Given the description of an element on the screen output the (x, y) to click on. 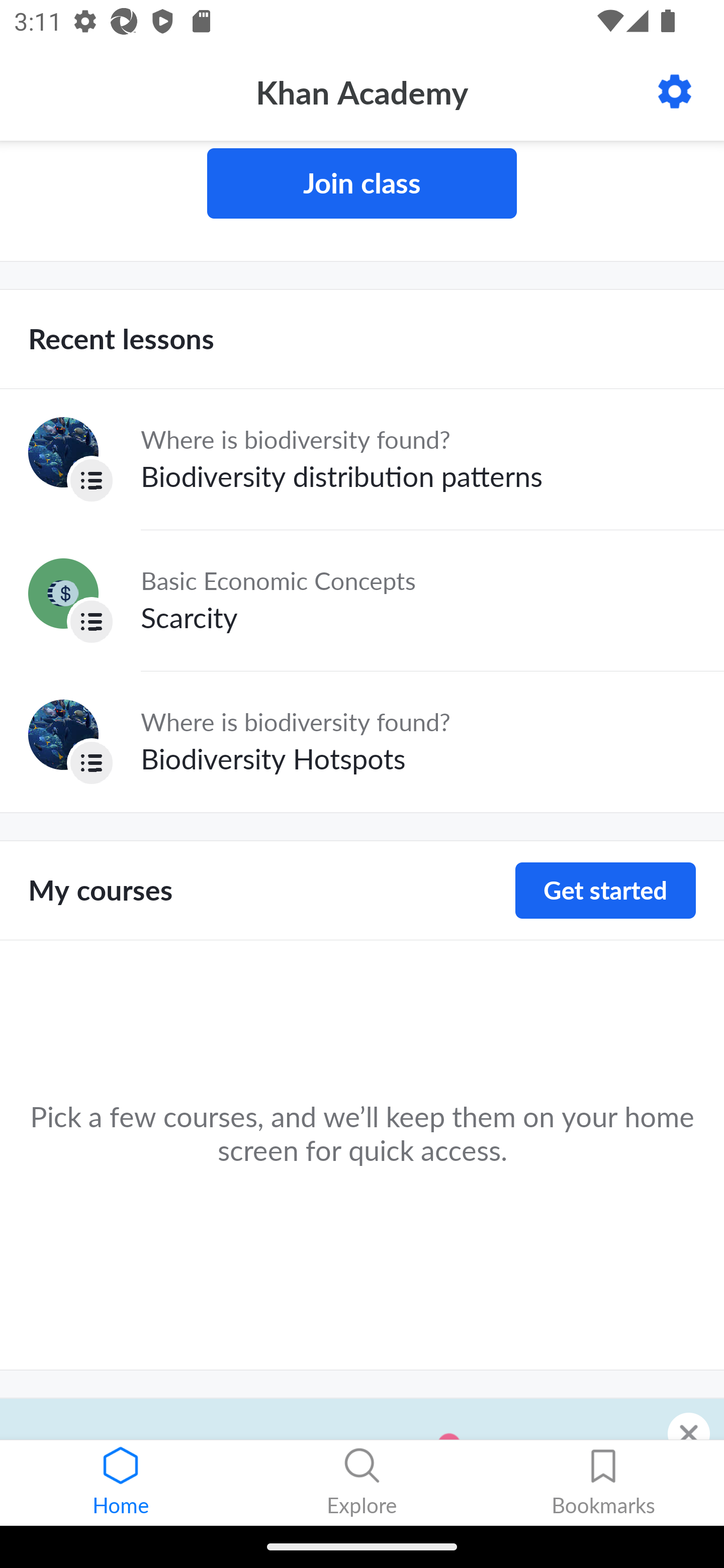
Settings (674, 91)
Join class (361, 182)
Lesson Basic Economic Concepts Scarcity (362, 600)
Get started (605, 890)
Home (120, 1482)
Explore (361, 1482)
Bookmarks (603, 1482)
